Given the description of an element on the screen output the (x, y) to click on. 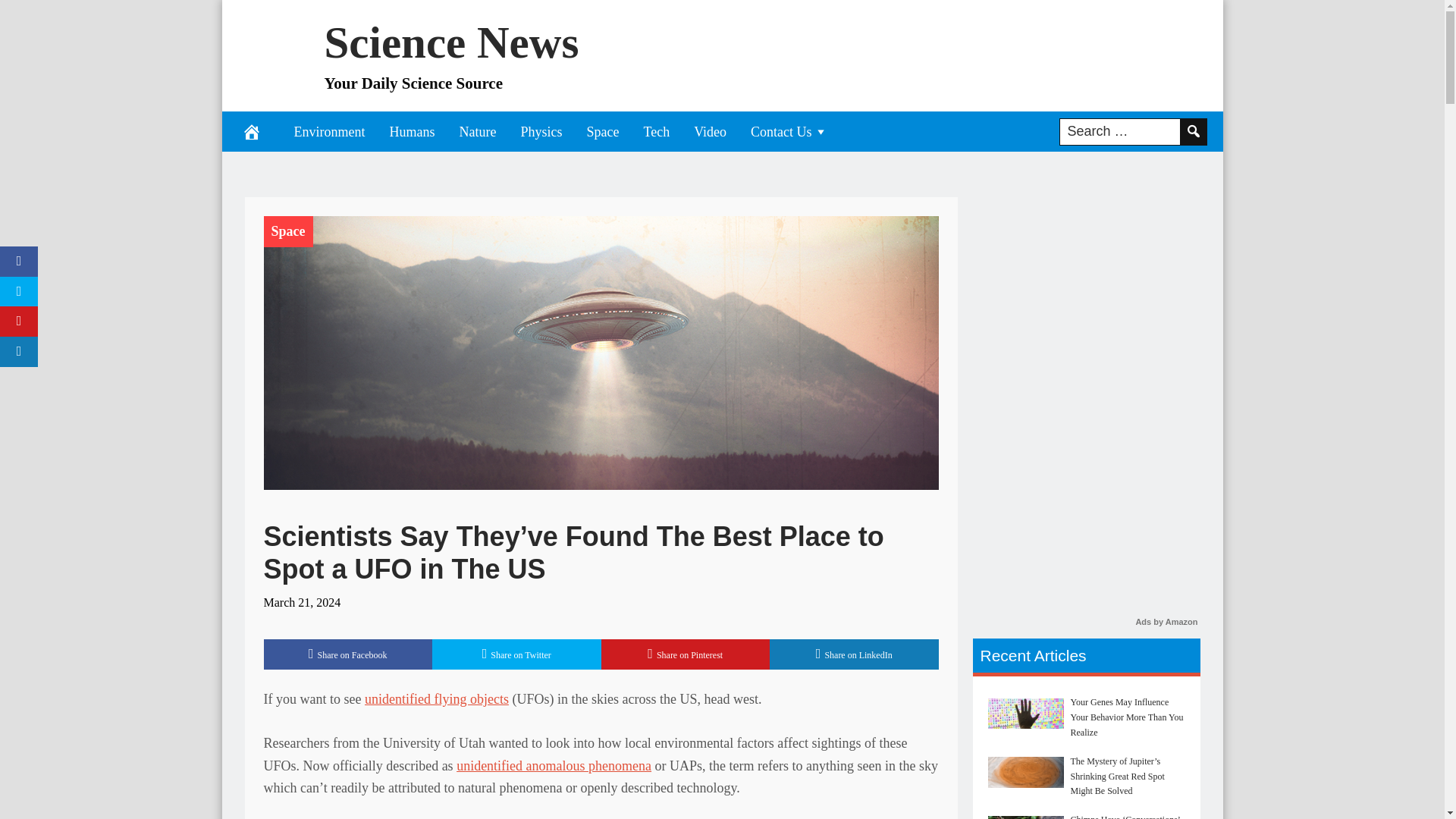
Humans (411, 131)
Contact Us (789, 131)
Physics (540, 131)
Tech (655, 131)
Space (601, 131)
Science News (451, 41)
Video (709, 131)
Space (287, 231)
Nature (477, 131)
Space (287, 231)
Environment (329, 131)
